Given the description of an element on the screen output the (x, y) to click on. 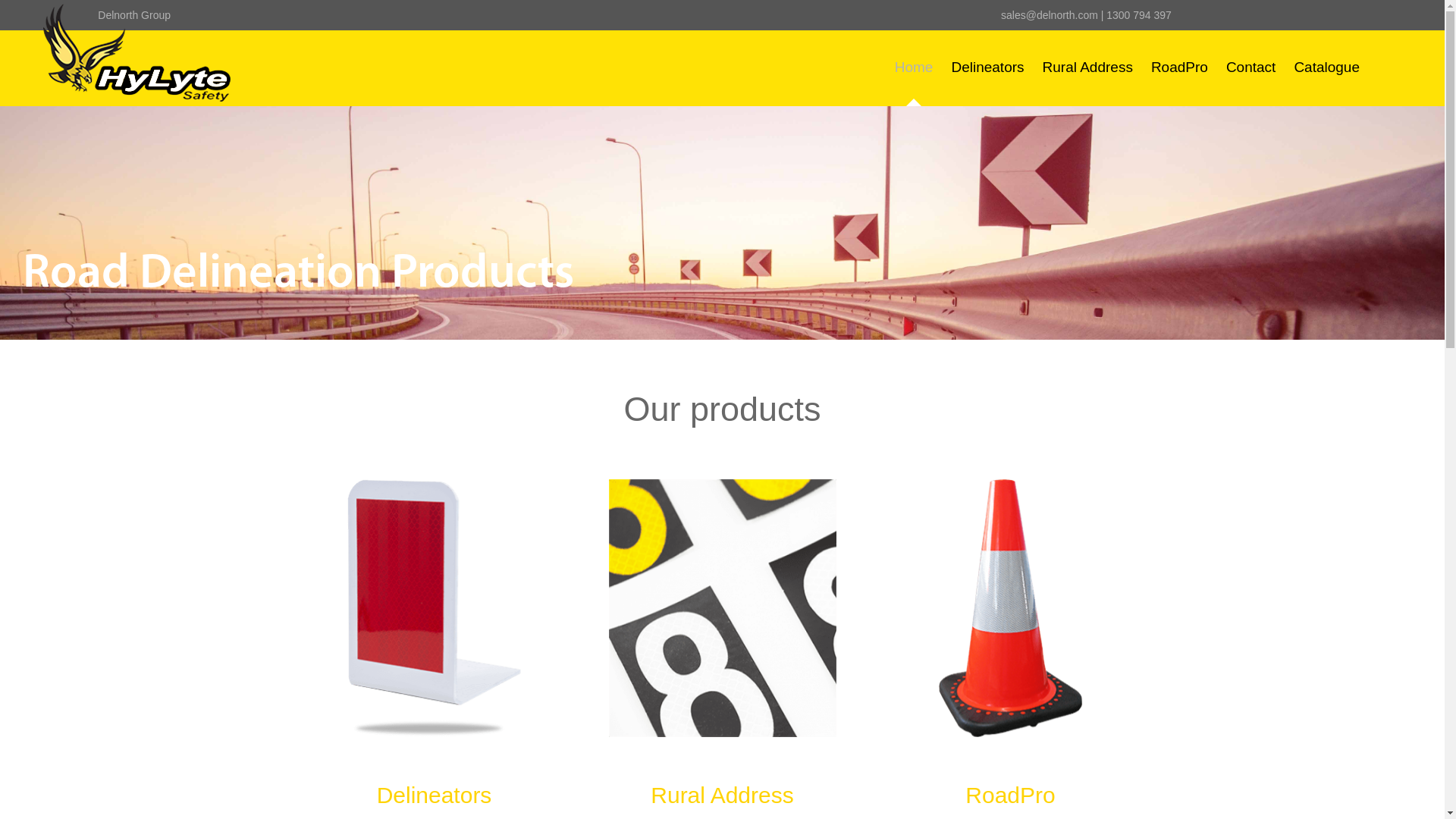
1300 794 397 Element type: text (1138, 15)
Catalogue Element type: text (1326, 66)
Rural Address Element type: text (1087, 66)
Contact Element type: text (1250, 66)
sales@delnorth.com Element type: text (1049, 15)
Home Element type: text (913, 66)
Delnorth Group Element type: text (133, 15)
RoadPro Element type: text (1179, 66)
Delineators Element type: text (986, 66)
